Given the description of an element on the screen output the (x, y) to click on. 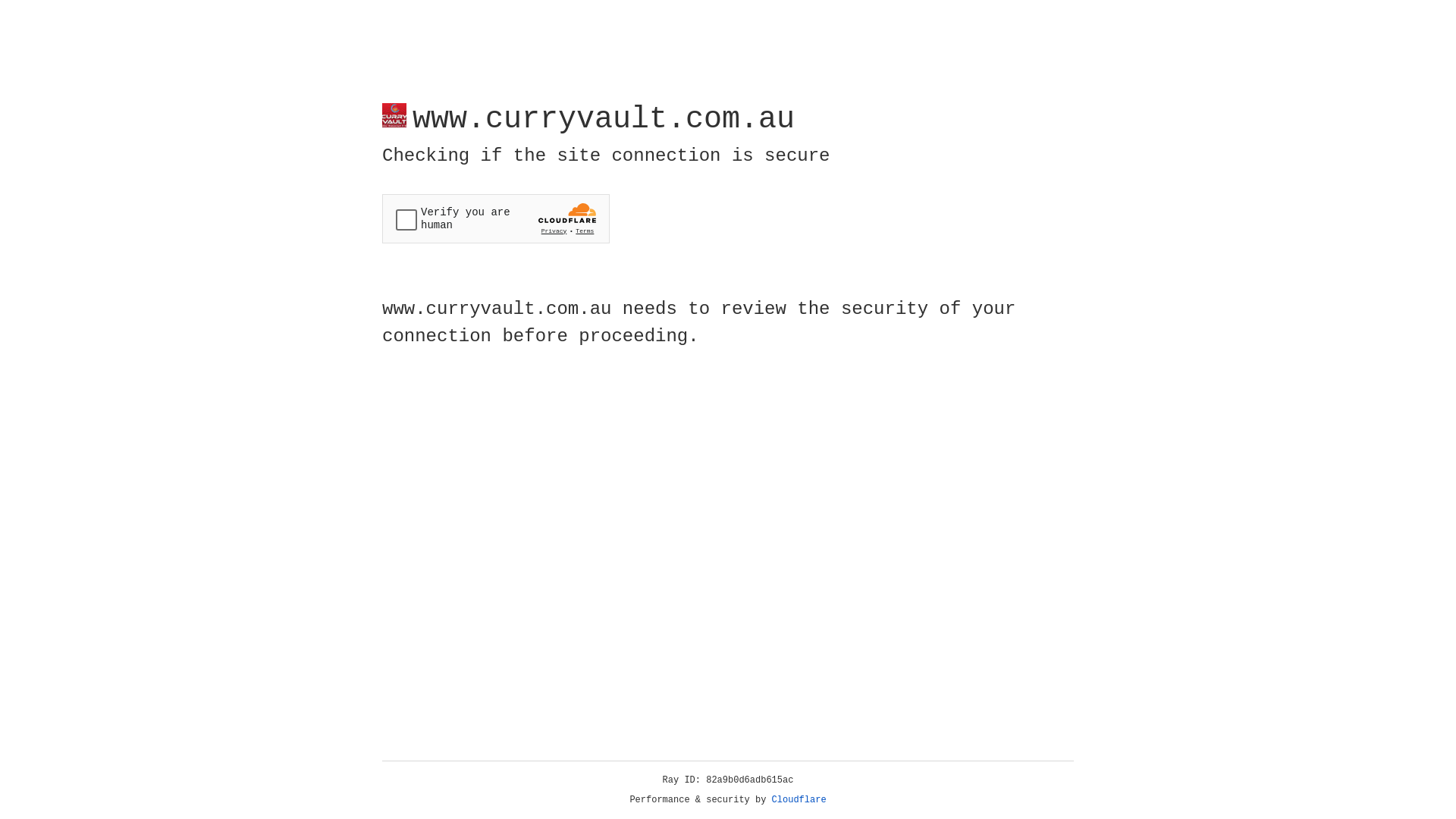
Widget containing a Cloudflare security challenge Element type: hover (495, 218)
Cloudflare Element type: text (798, 799)
